Given the description of an element on the screen output the (x, y) to click on. 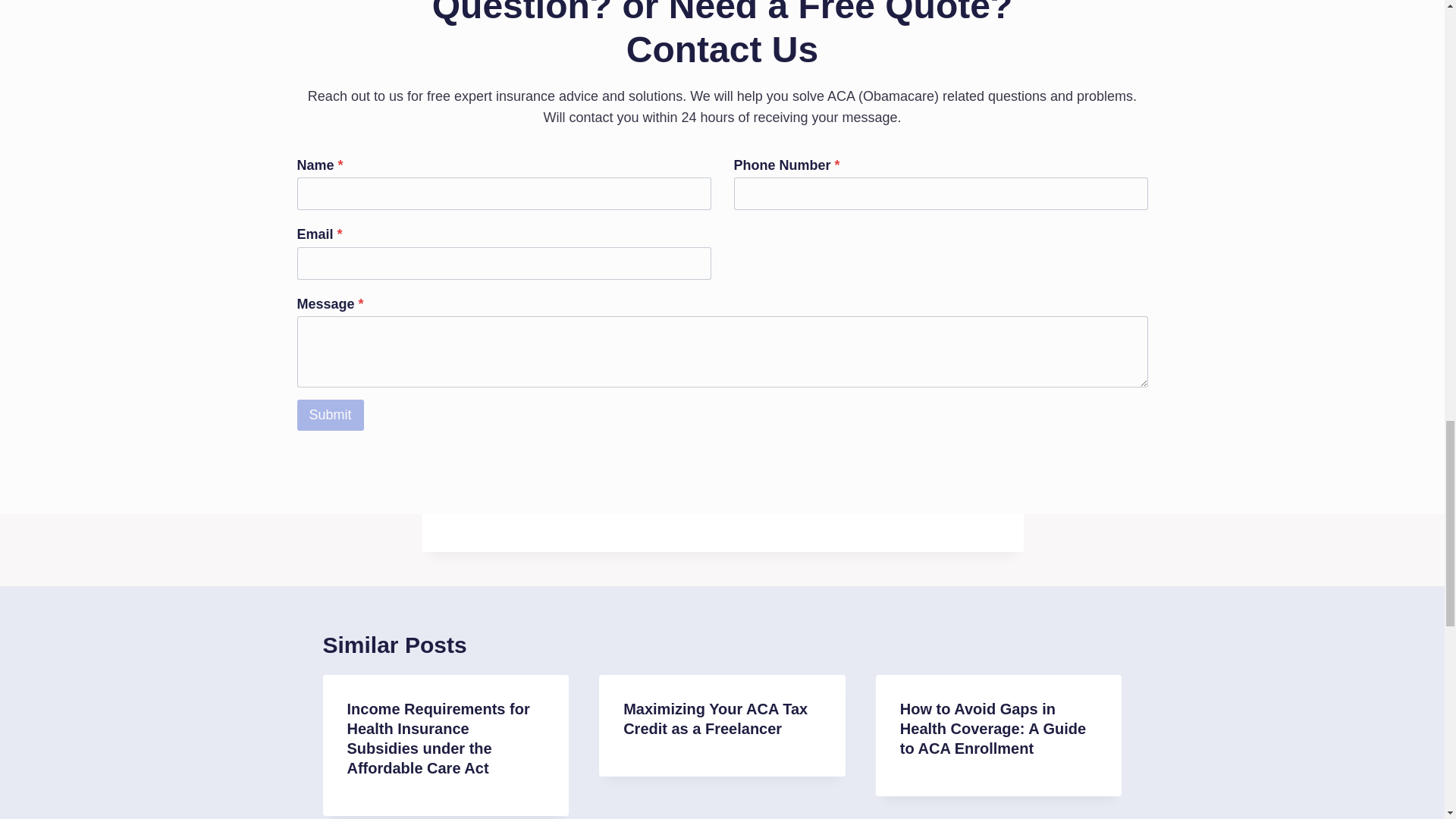
Submit (330, 414)
Maximizing Your ACA Tax Credit as a Freelancer (715, 719)
